Given the description of an element on the screen output the (x, y) to click on. 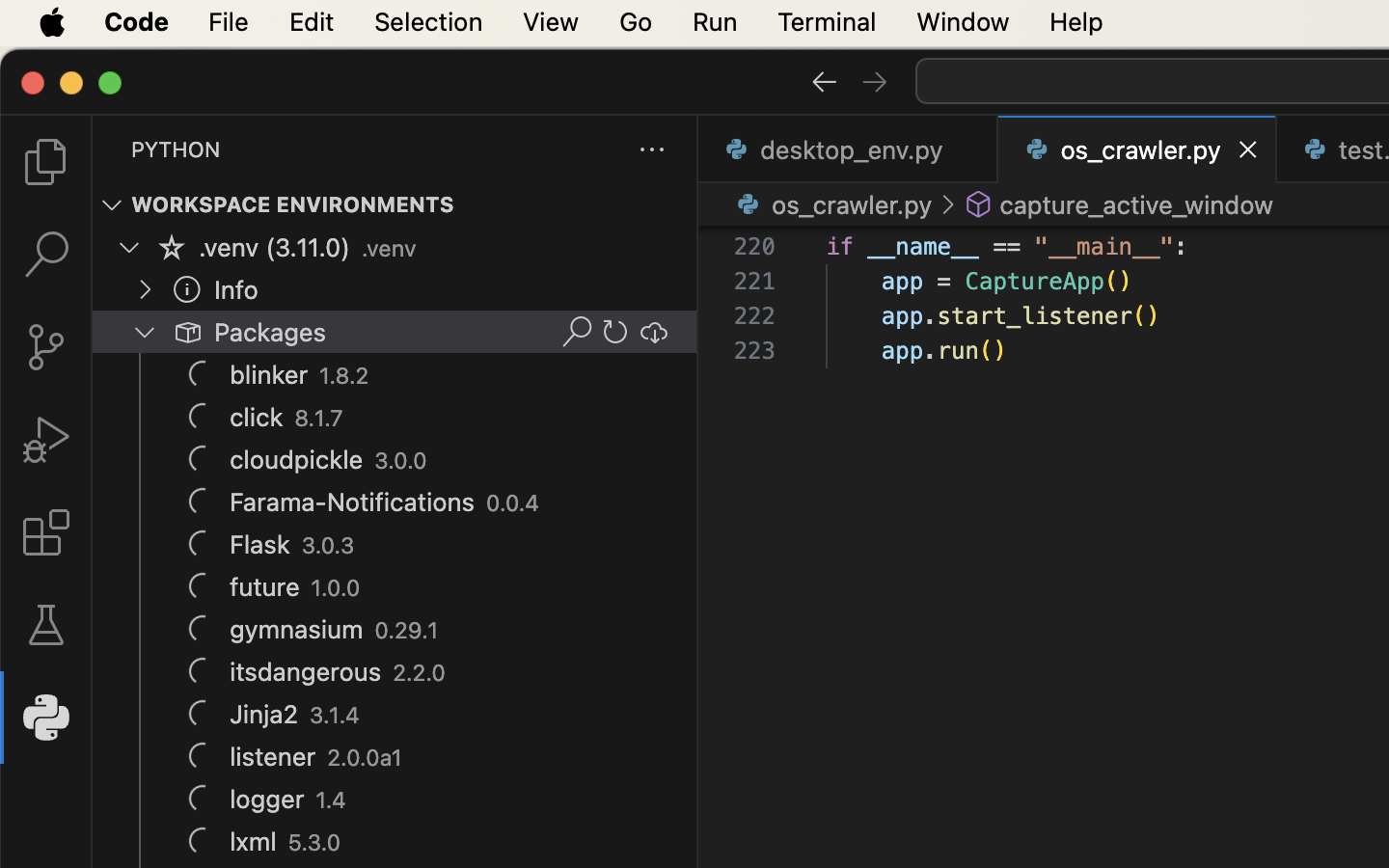
1.0.0 Element type: AXStaticText (335, 587)
0  Element type: AXRadioButton (46, 532)
0.0.4 Element type: AXStaticText (513, 502)
listener Element type: AXStaticText (272, 756)
.venv Element type: AXStaticText (388, 248)
